Given the description of an element on the screen output the (x, y) to click on. 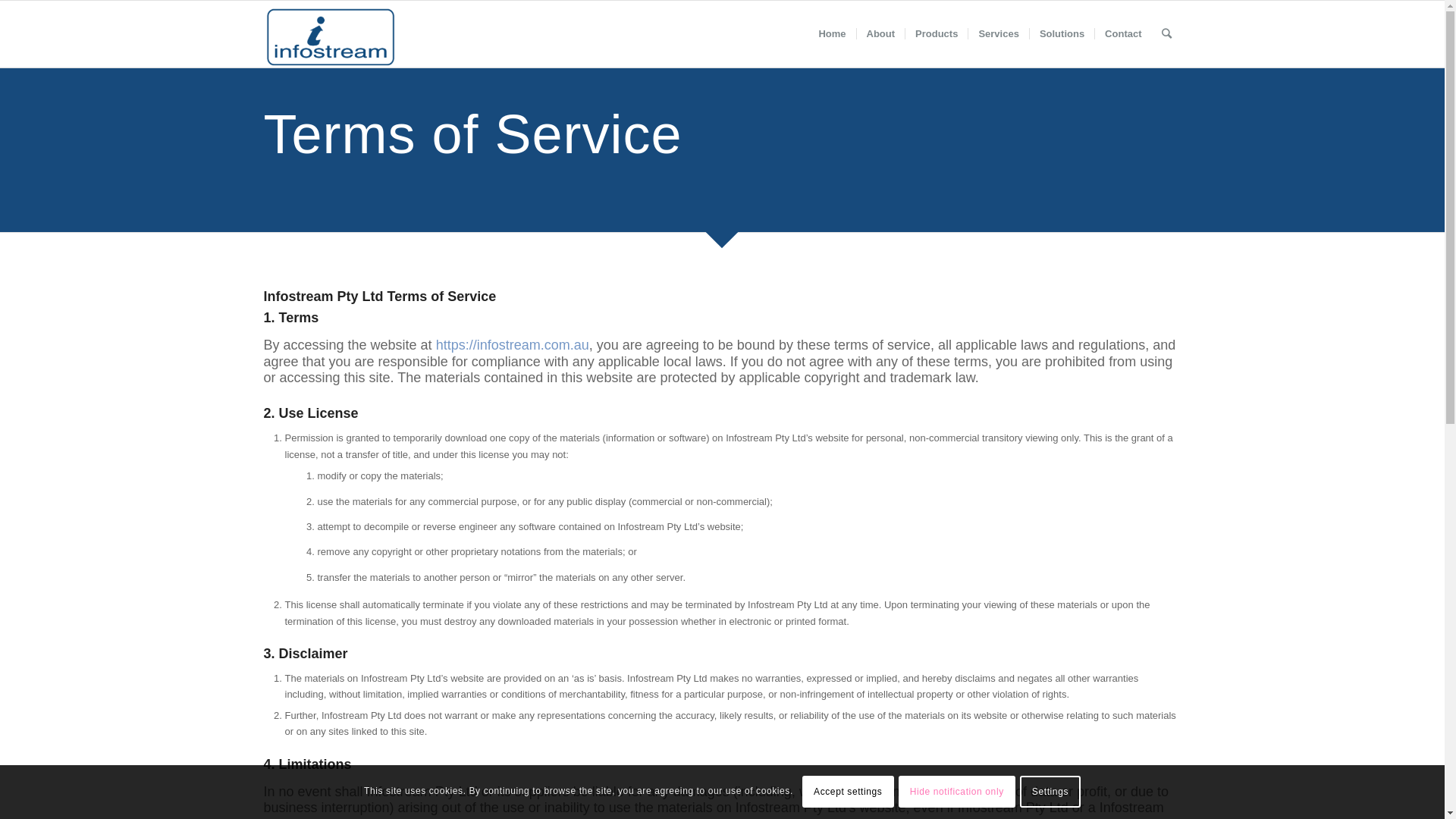
Home Element type: text (831, 33)
Services Element type: text (998, 33)
Contact Element type: text (1122, 33)
Accept settings Element type: text (848, 791)
Settings Element type: text (1049, 791)
About Element type: text (879, 33)
https://infostream.com.au Element type: text (512, 344)
Products Element type: text (935, 33)
Hide notification only Element type: text (956, 791)
Solutions Element type: text (1061, 33)
